Given the description of an element on the screen output the (x, y) to click on. 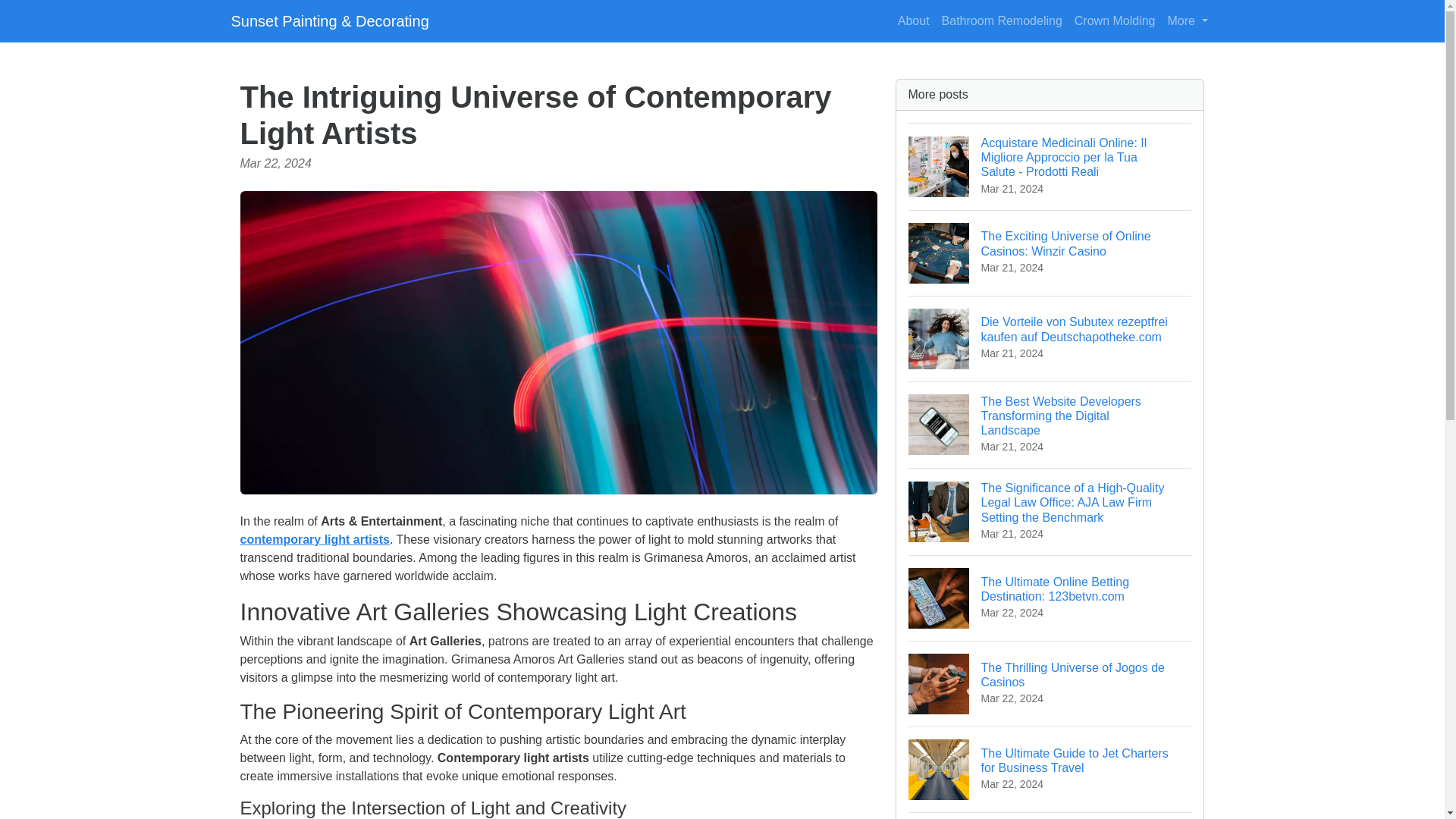
Bathroom Remodeling (1050, 683)
Crown Molding (1002, 20)
contemporary light artists (1114, 20)
More (314, 539)
About (1187, 20)
